Given the description of an element on the screen output the (x, y) to click on. 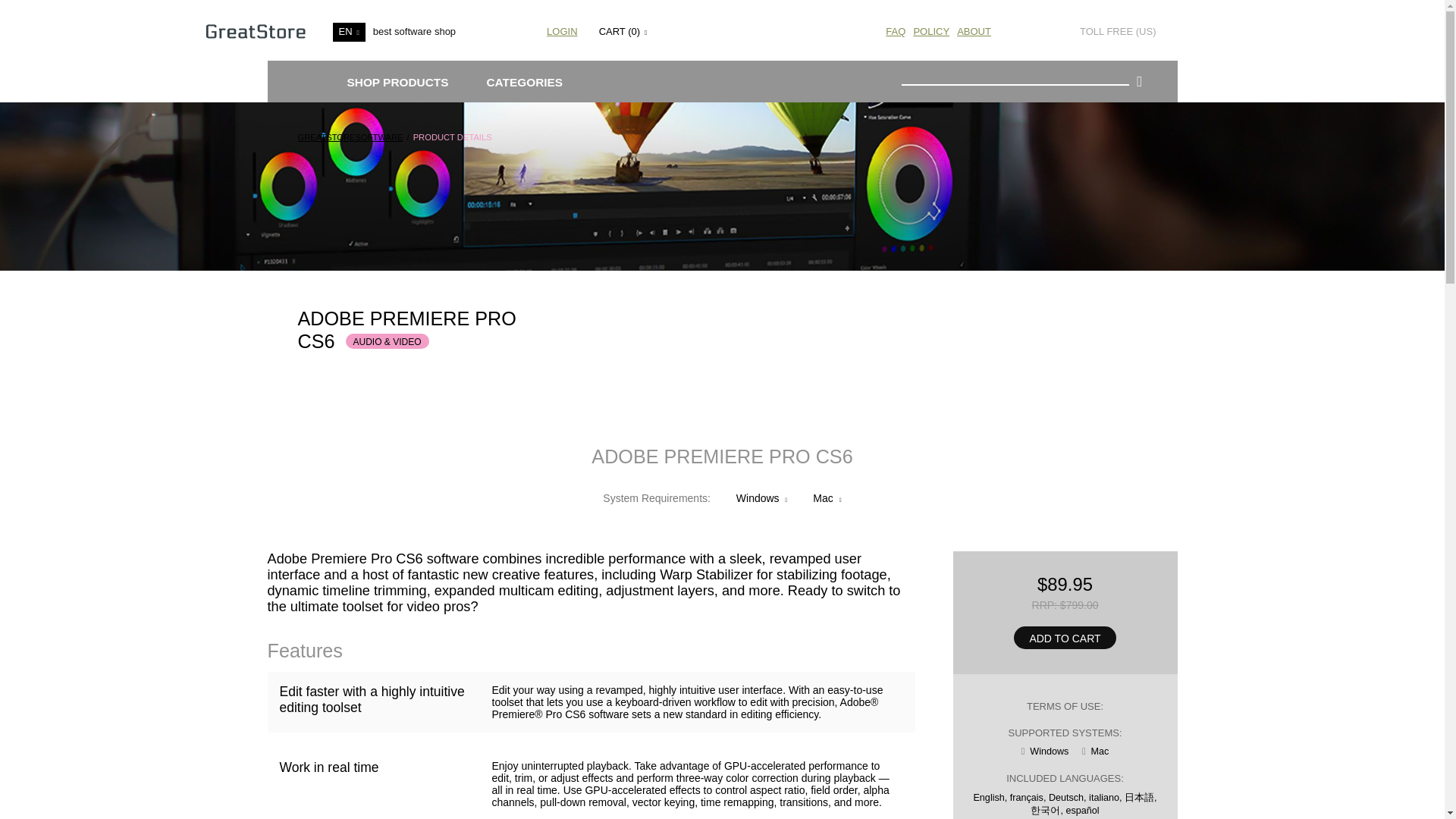
POLICY (930, 30)
FAQ (895, 30)
LOGIN (562, 30)
ABOUT (973, 30)
